Given the description of an element on the screen output the (x, y) to click on. 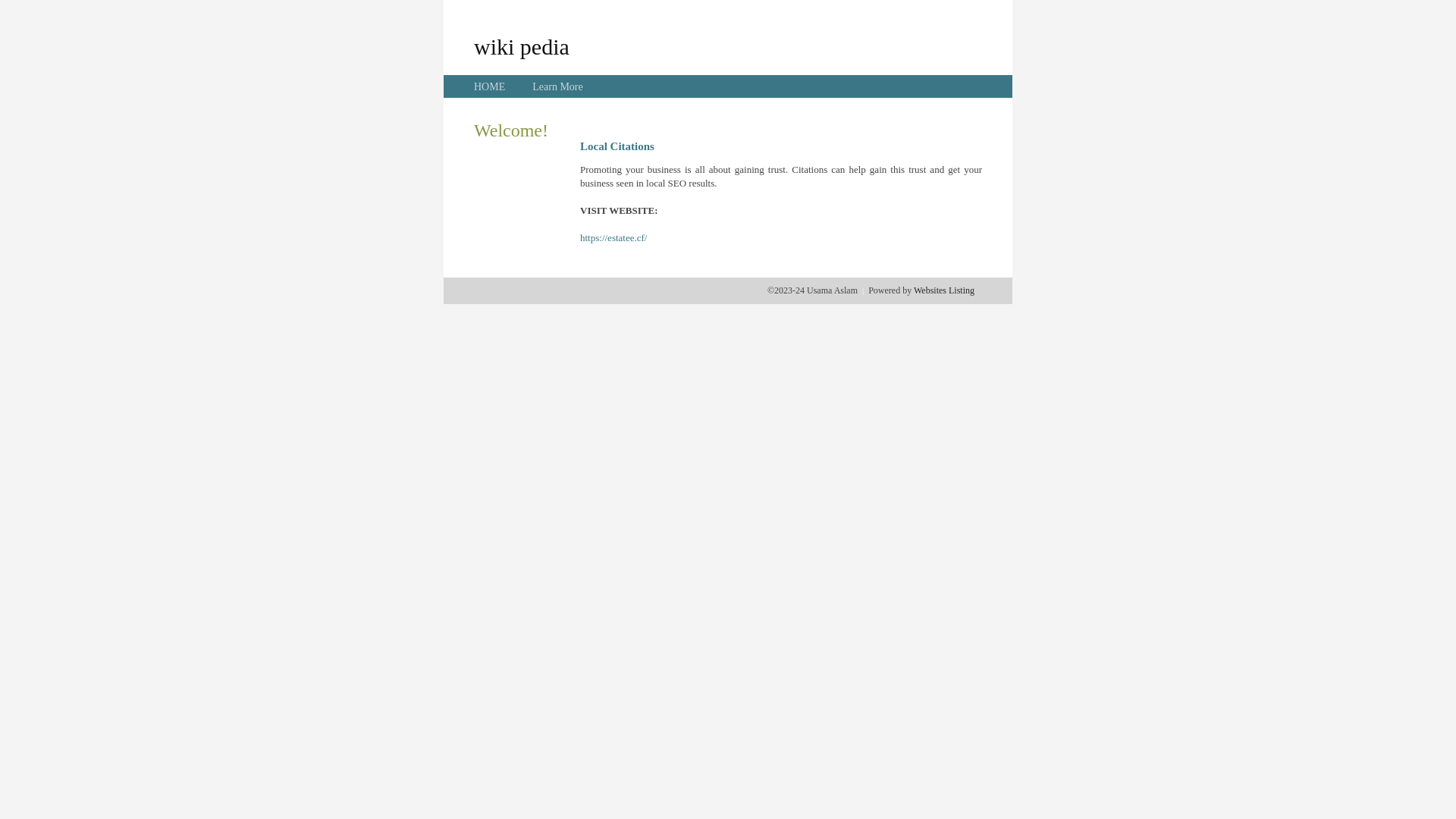
wiki pedia Element type: text (521, 46)
Learn More Element type: text (557, 86)
Websites Listing Element type: text (943, 290)
https://estatee.cf/ Element type: text (613, 237)
HOME Element type: text (489, 86)
